Given the description of an element on the screen output the (x, y) to click on. 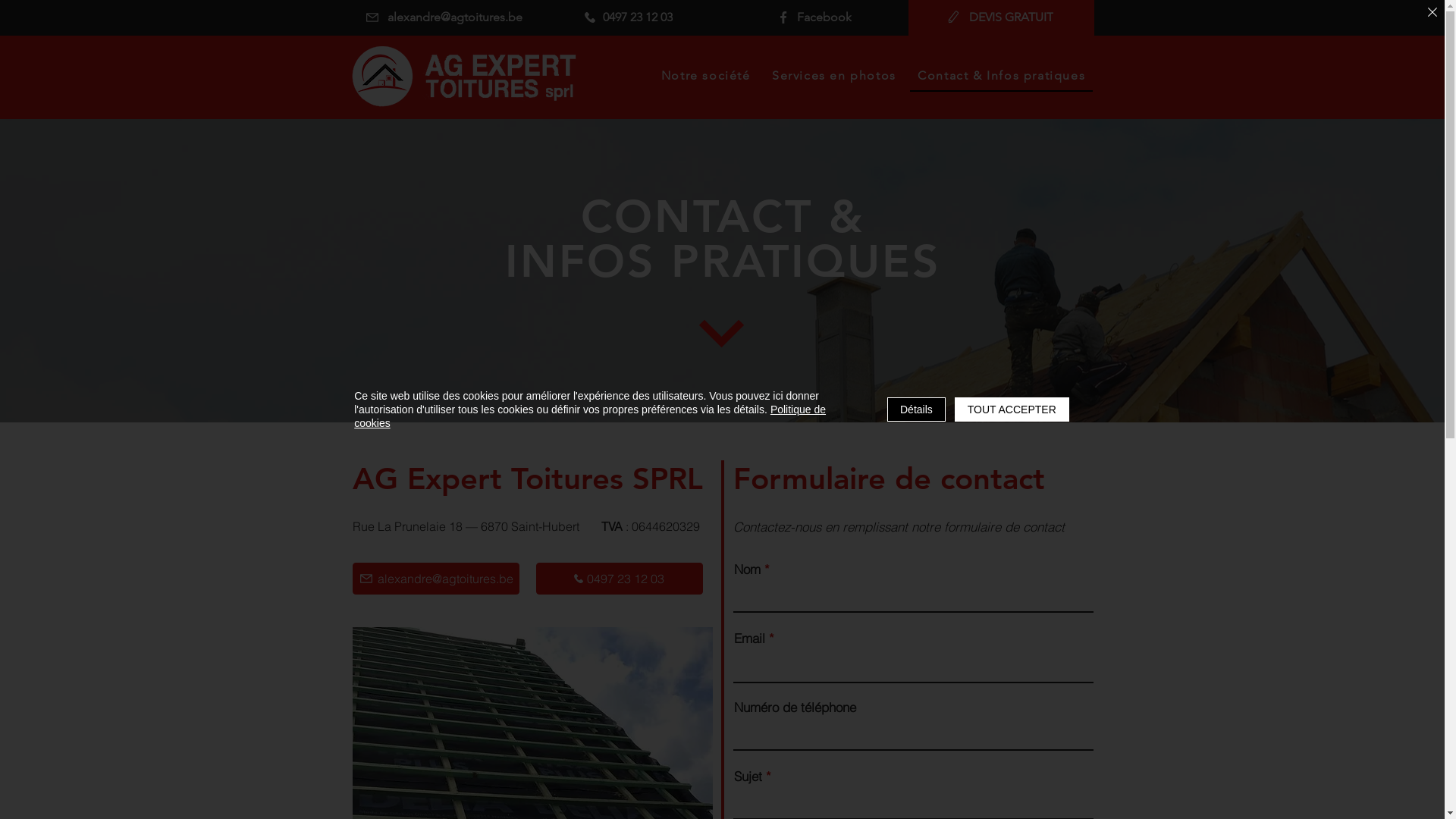
Facebook Element type: text (813, 16)
alexandre@agtoitures.be Element type: text (434, 578)
TOUT ACCEPTER Element type: text (1011, 409)
AG Expert Toitures sprl Element type: hover (463, 76)
Politique de cookies Element type: text (589, 416)
0497 23 12 03 Element type: text (628, 16)
DEVIS GRATUIT Element type: text (999, 16)
Contact & Infos pratiques Element type: text (1001, 75)
0497 23 12 03 Element type: text (618, 578)
alexandre@agtoitures.be Element type: text (443, 16)
